Given the description of an element on the screen output the (x, y) to click on. 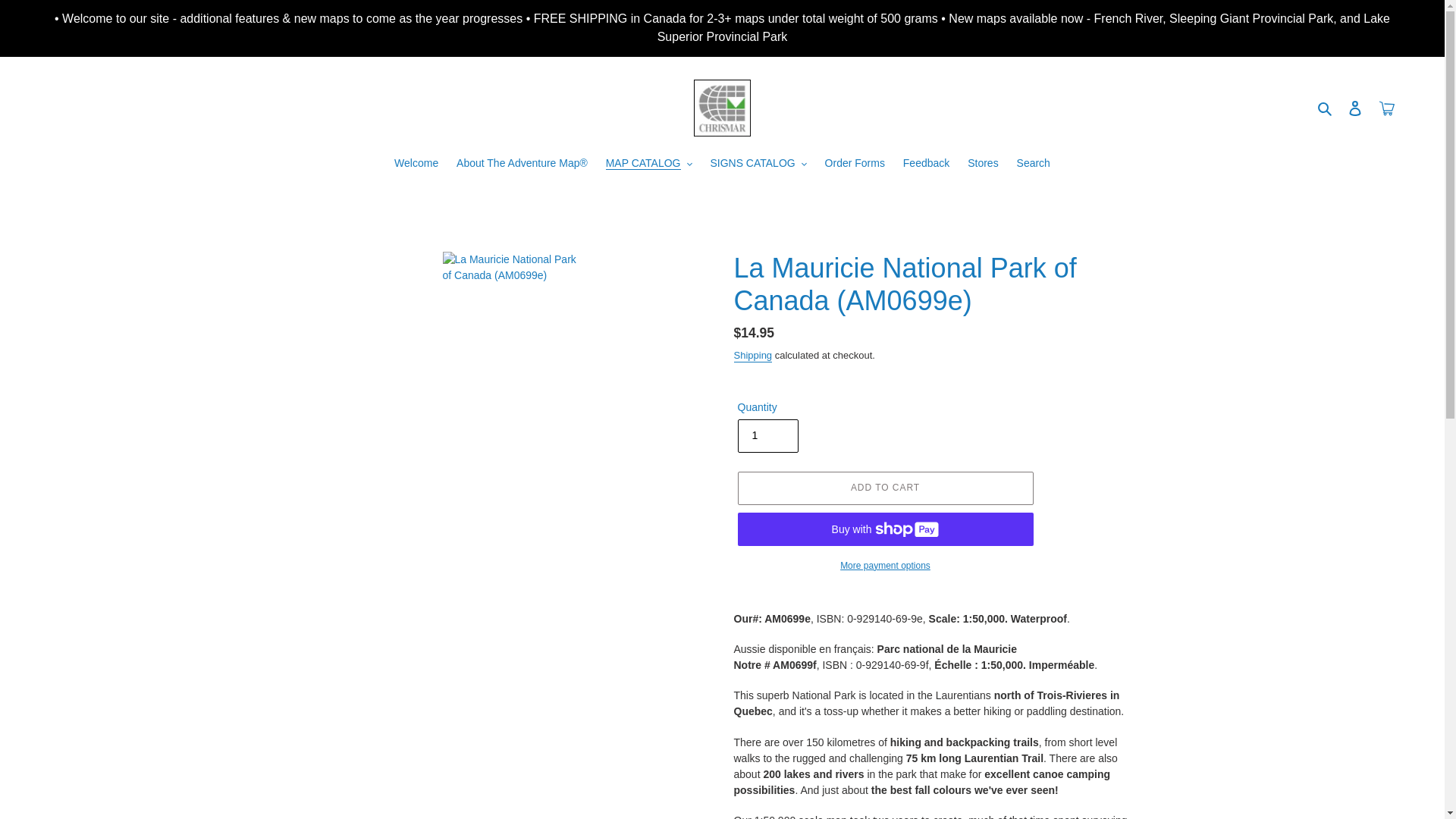
MAP CATALOG (649, 164)
Cart (1387, 107)
Log in (1355, 107)
Welcome (416, 164)
1 (766, 435)
Search (1326, 108)
